Given the description of an element on the screen output the (x, y) to click on. 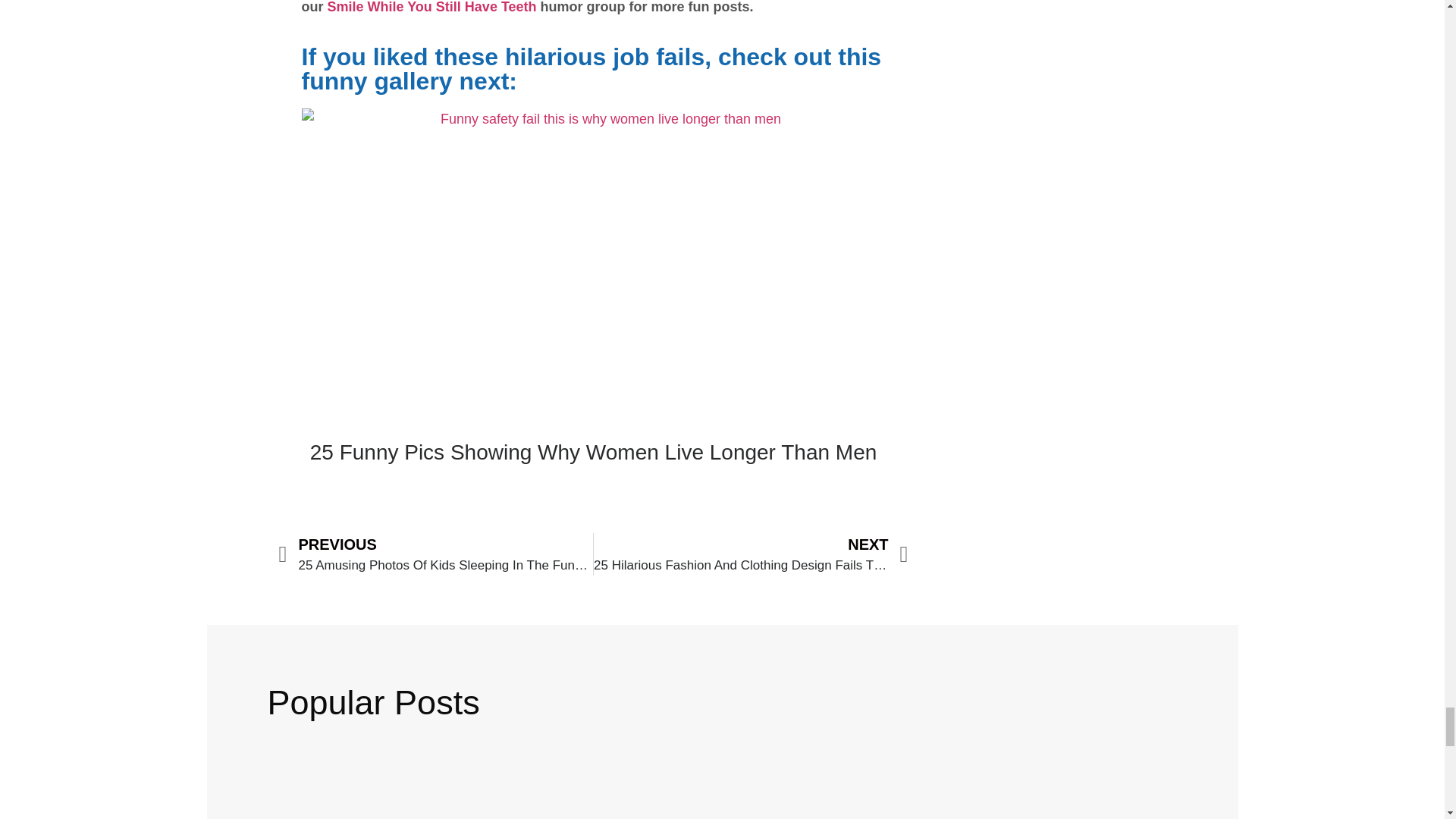
Smile While You Still Have Teeth (432, 7)
25 Funny Pics Showing Why Women Live Longer Than Men (593, 452)
